Given the description of an element on the screen output the (x, y) to click on. 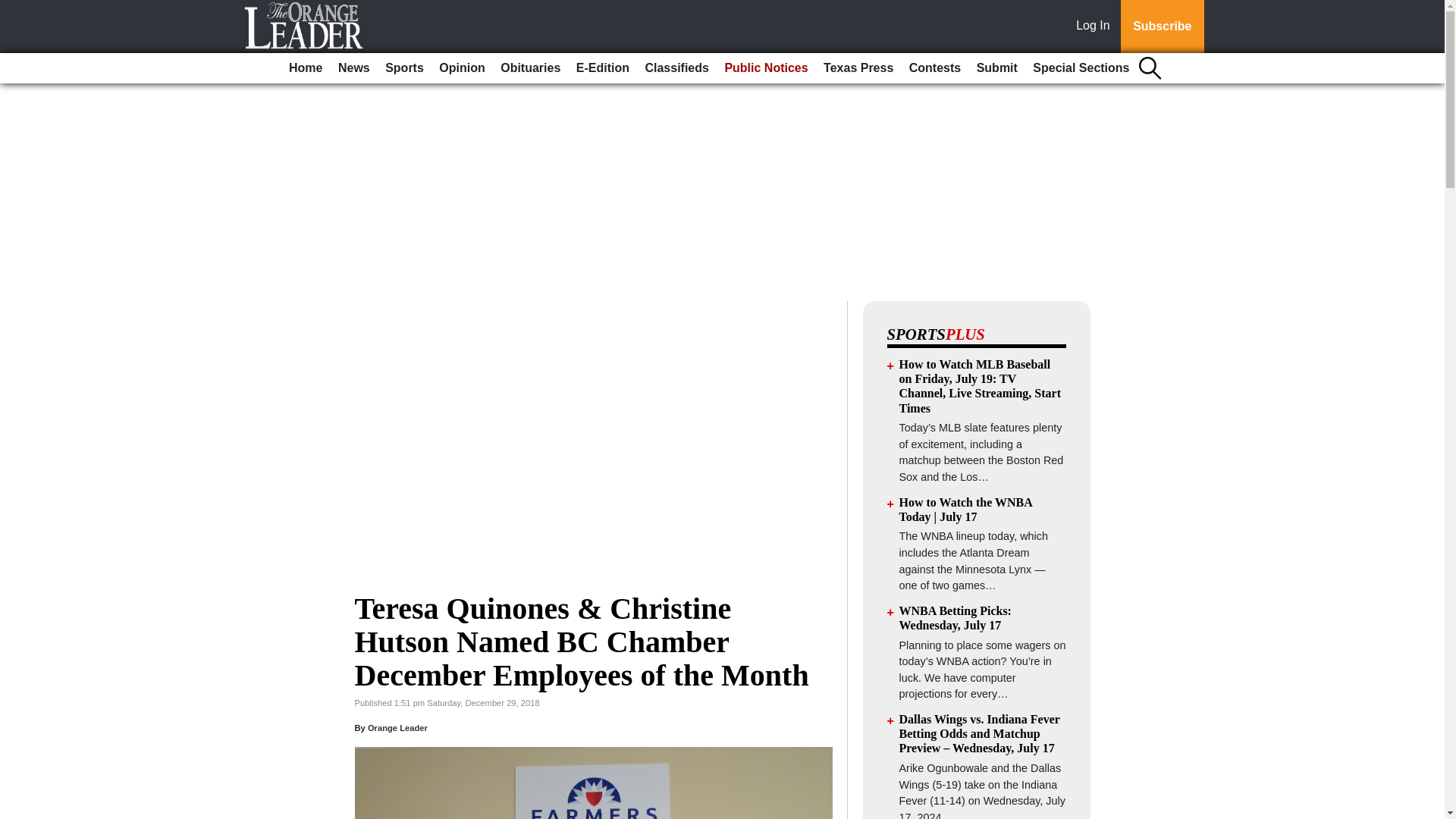
Orange Leader (398, 727)
Contests (934, 68)
Public Notices (765, 68)
Log In (1095, 26)
E-Edition (602, 68)
Home (305, 68)
Subscribe (1162, 26)
Opinion (461, 68)
News (353, 68)
Sports (403, 68)
Go (13, 9)
Texas Press (857, 68)
Obituaries (530, 68)
Submit (997, 68)
